Given the description of an element on the screen output the (x, y) to click on. 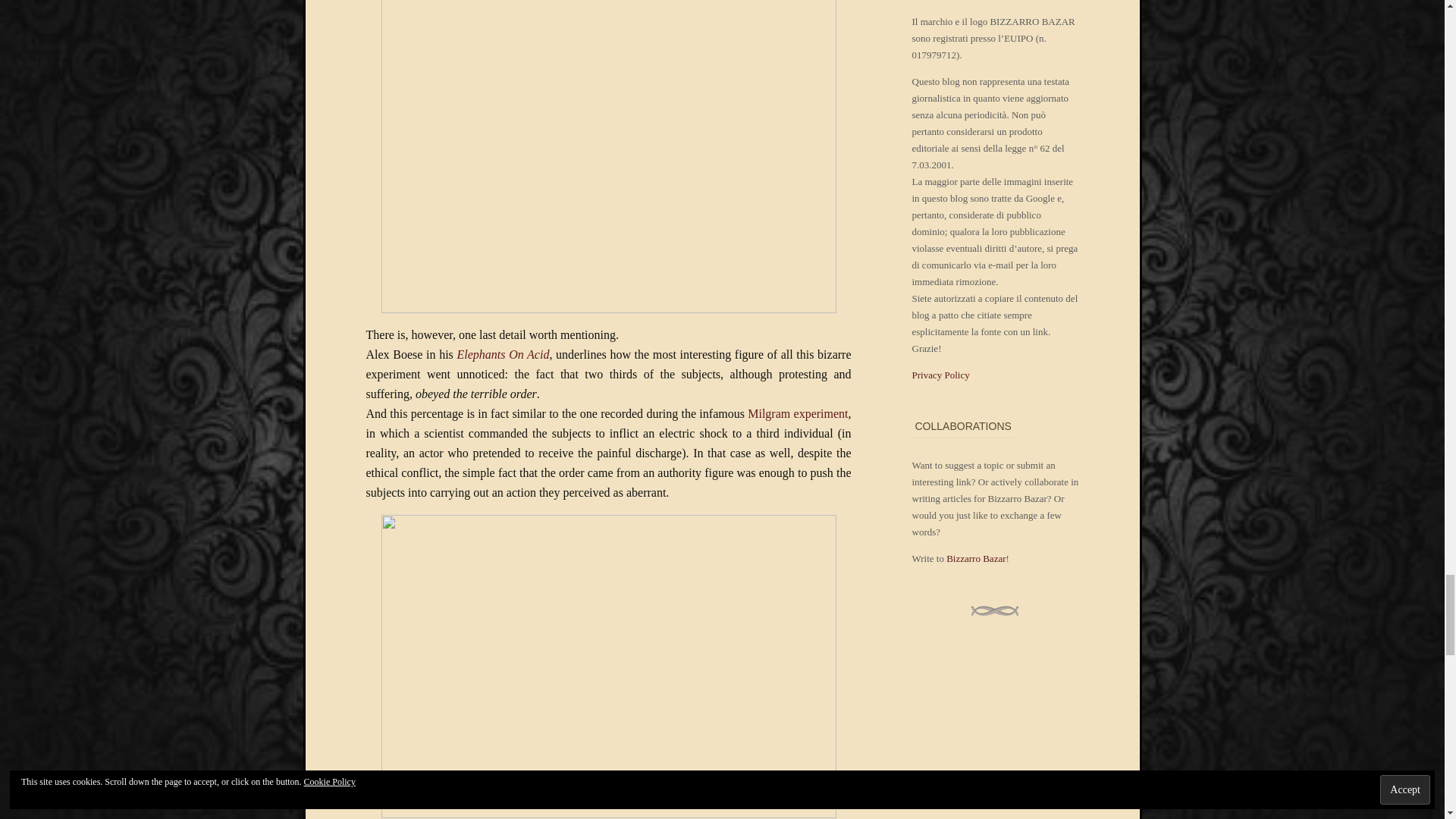
Milgram experiment (797, 413)
Elephants On Acid (502, 354)
